Given the description of an element on the screen output the (x, y) to click on. 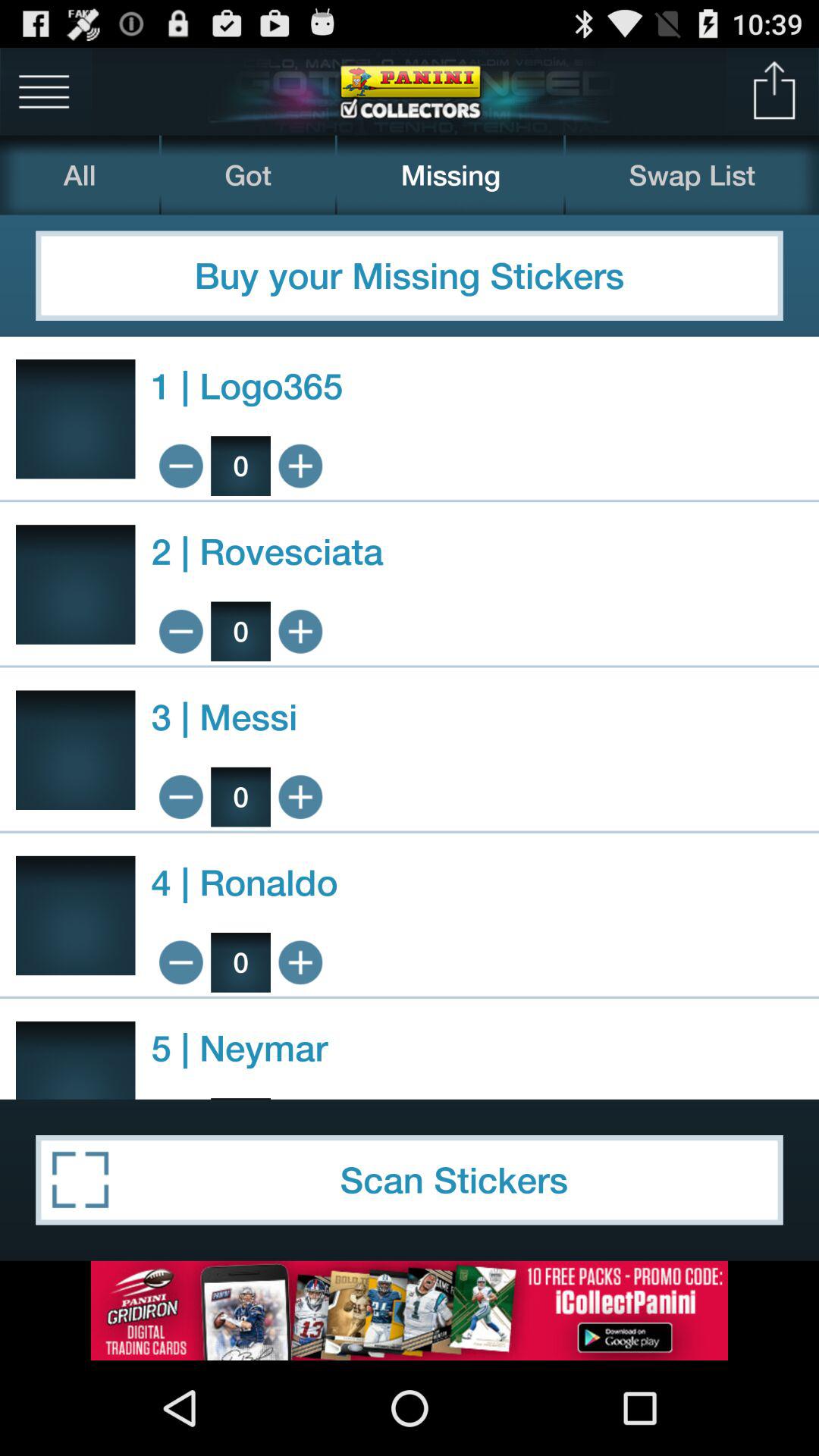
visit advertisement (409, 1310)
